Given the description of an element on the screen output the (x, y) to click on. 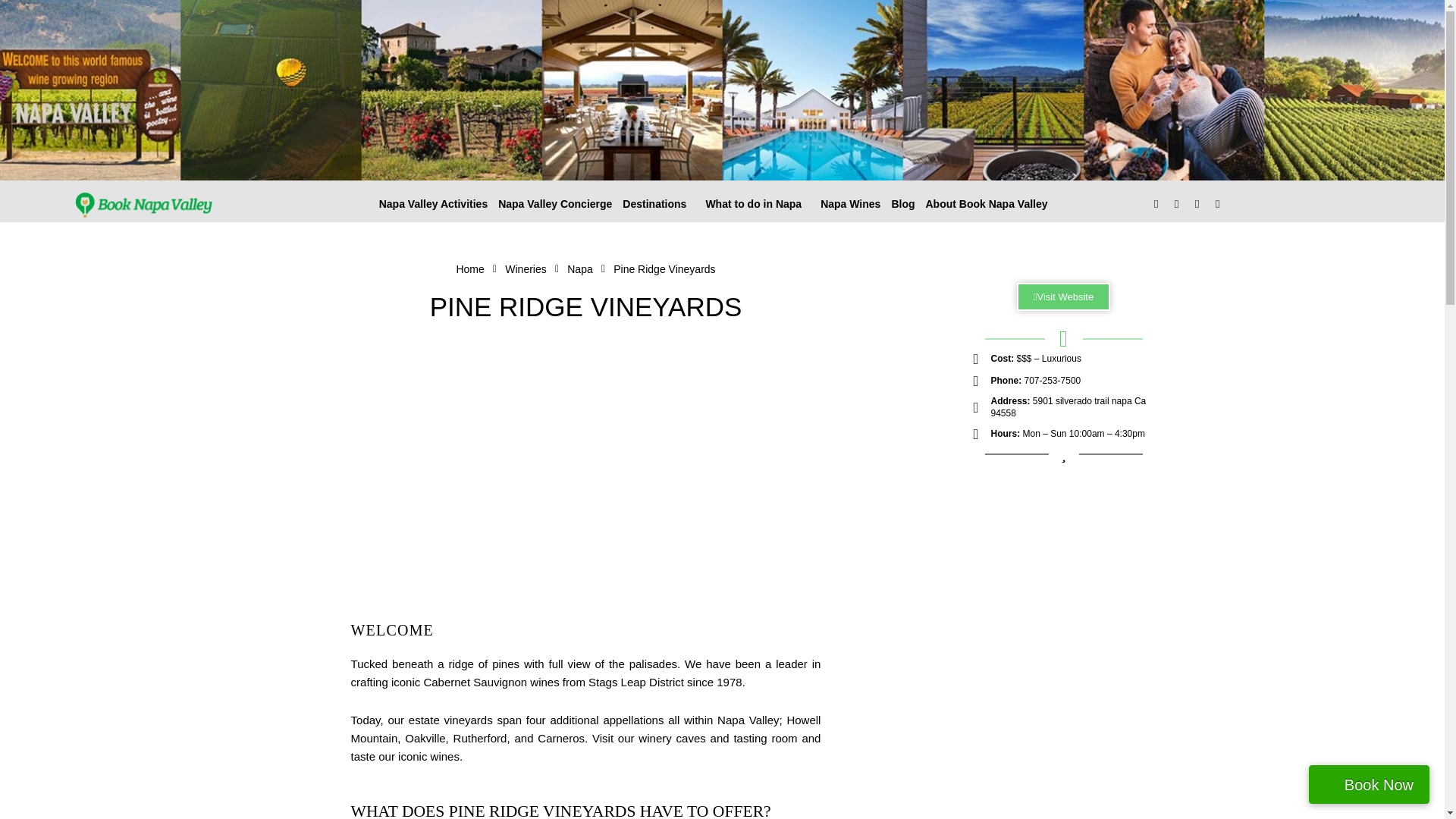
Destinations (658, 203)
Napa Valley Concierge (555, 203)
Napa Valley Activities (433, 203)
What to do in Napa (757, 203)
